Given the description of an element on the screen output the (x, y) to click on. 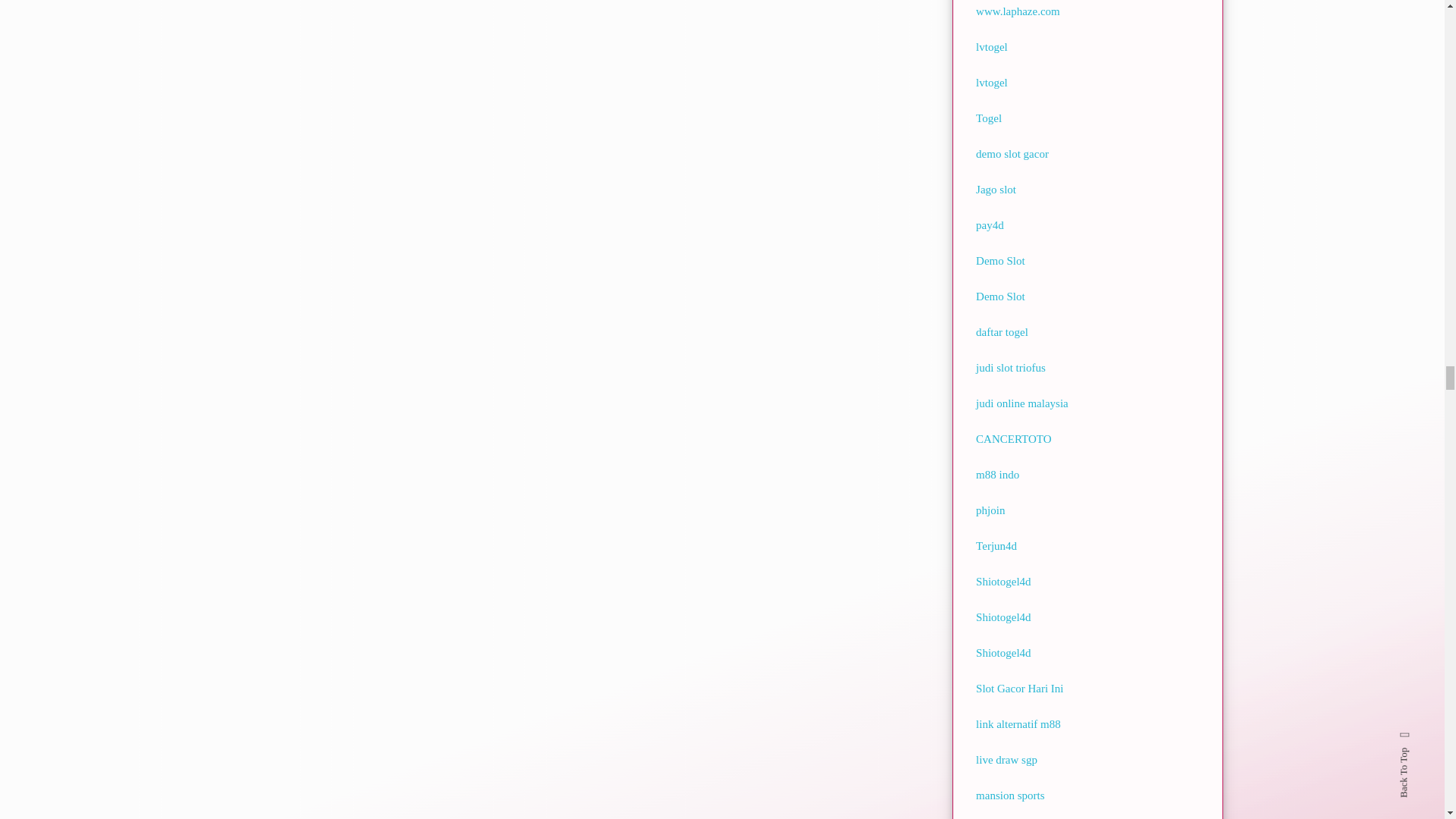
demo slot gacor (1011, 153)
